Given the description of an element on the screen output the (x, y) to click on. 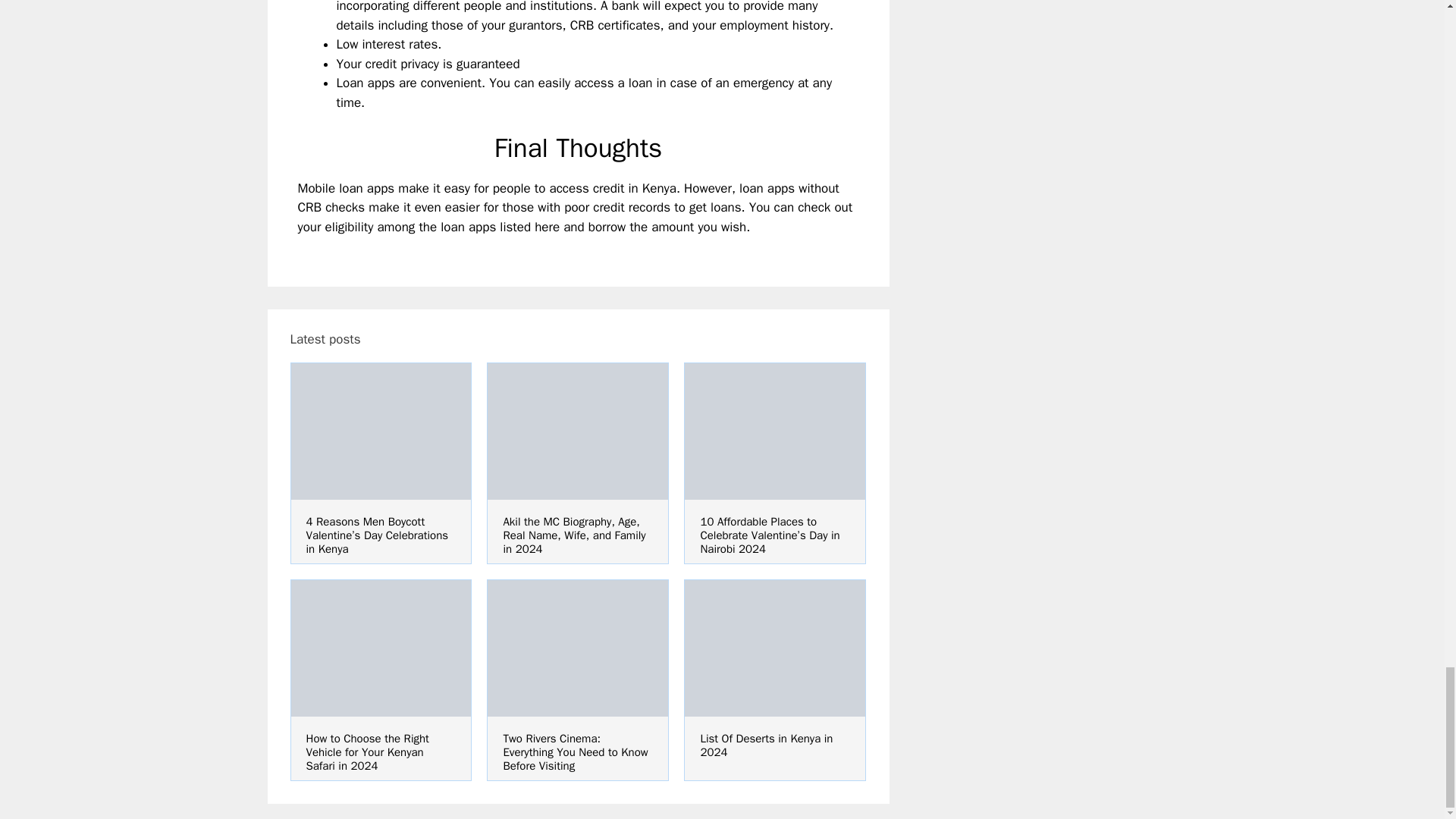
List Of Deserts in Kenya in 2024 (766, 745)
